Given the description of an element on the screen output the (x, y) to click on. 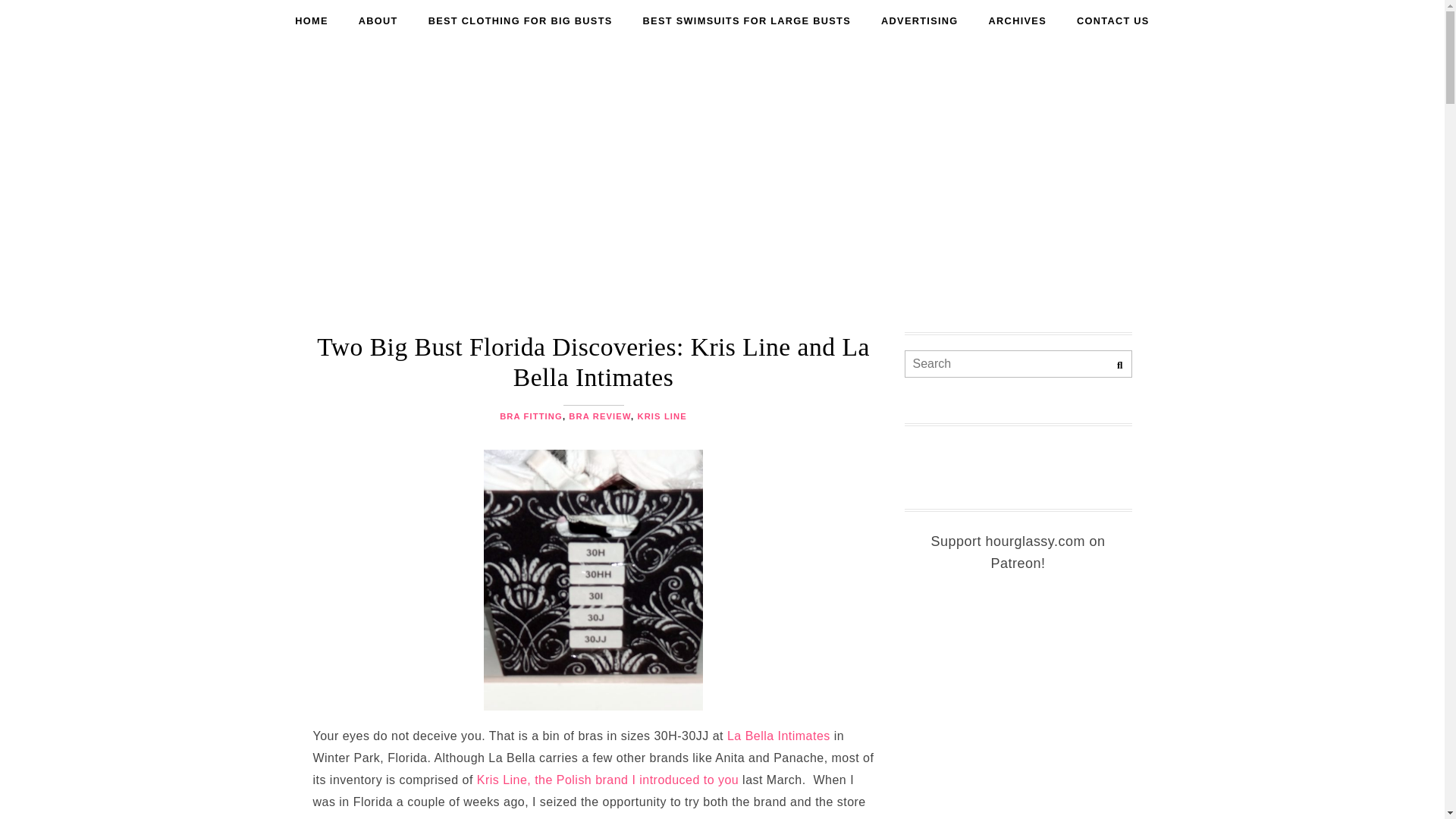
BEST CLOTHING FOR BIG BUSTS (520, 21)
ABOUT (378, 21)
BRA FITTING (530, 415)
ARCHIVES (1017, 21)
Kris Line, the Polish brand I introduced to you (607, 779)
La Bella Intimates (777, 735)
BEST SWIMSUITS FOR LARGE BUSTS (746, 21)
KRIS LINE (661, 415)
ADVERTISING (920, 21)
